Given the description of an element on the screen output the (x, y) to click on. 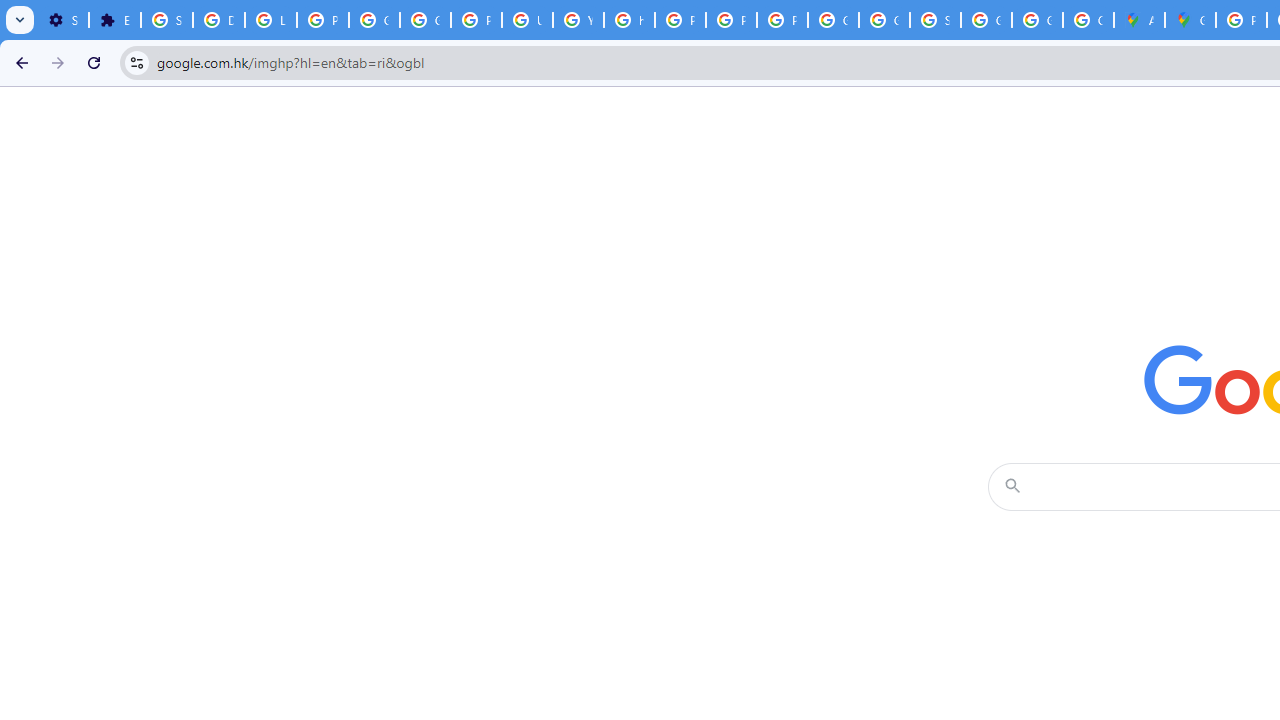
Settings - On startup (63, 20)
